Given the description of an element on the screen output the (x, y) to click on. 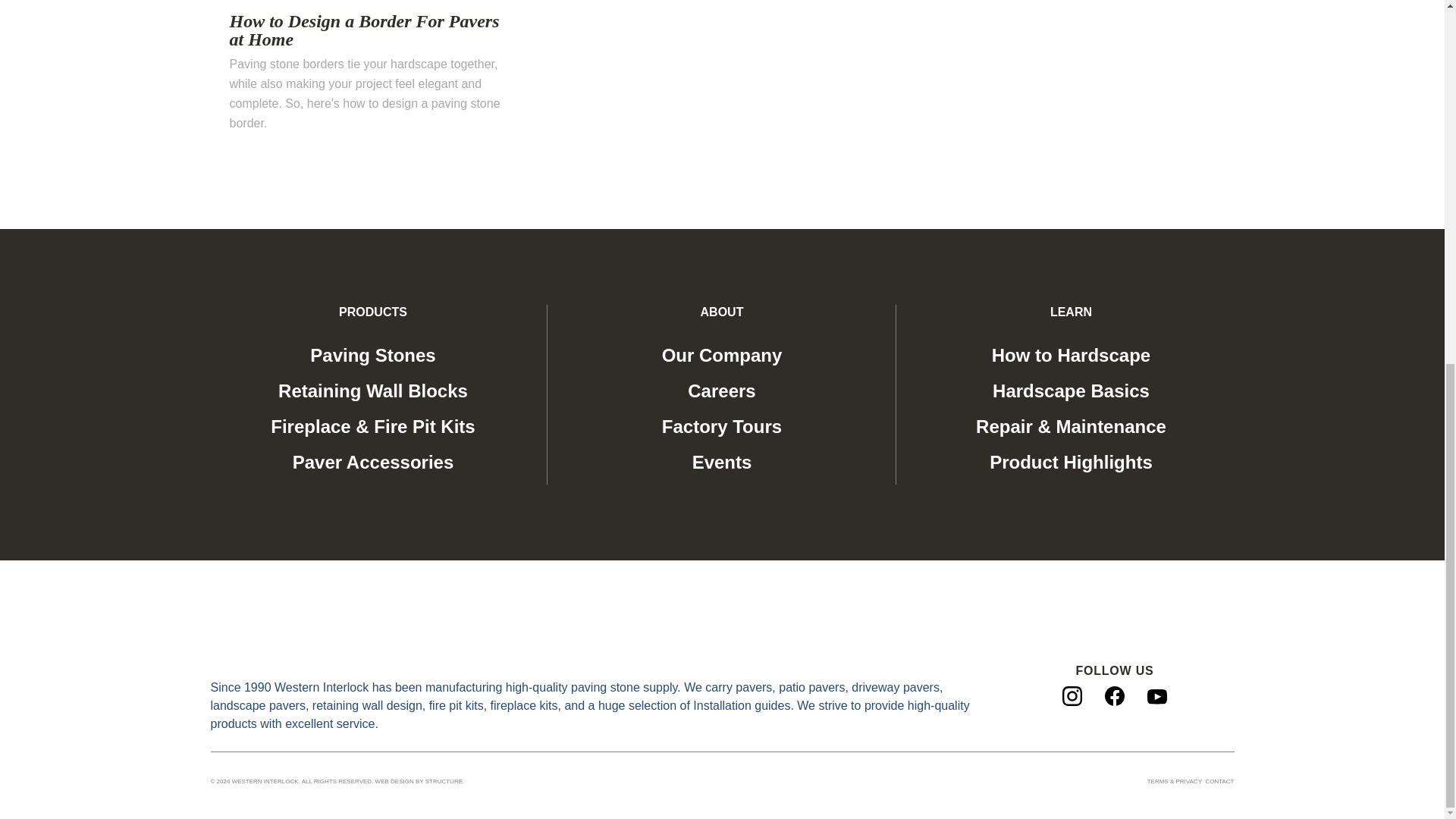
Find us on Youtube (1157, 695)
Find us on Instagram (1071, 695)
Find us on Facebook (1114, 695)
